Given the description of an element on the screen output the (x, y) to click on. 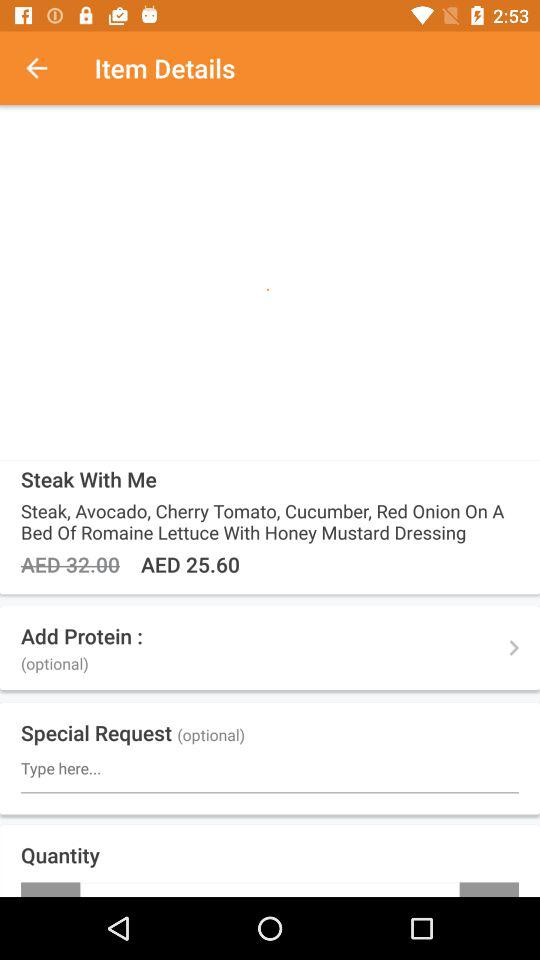
click icon next to + (50, 889)
